Given the description of an element on the screen output the (x, y) to click on. 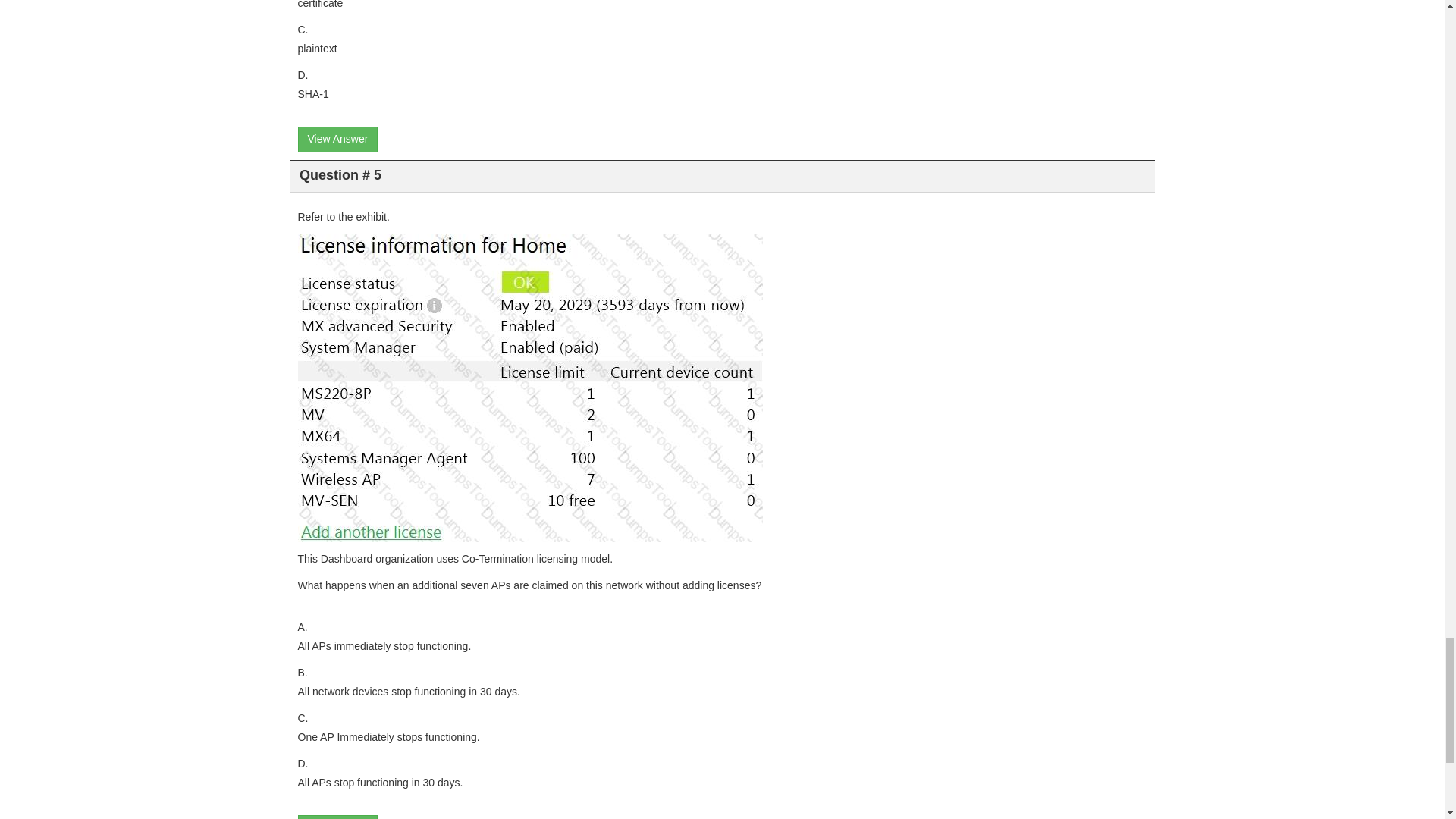
View Answer (337, 816)
View Answer (337, 139)
